Given the description of an element on the screen output the (x, y) to click on. 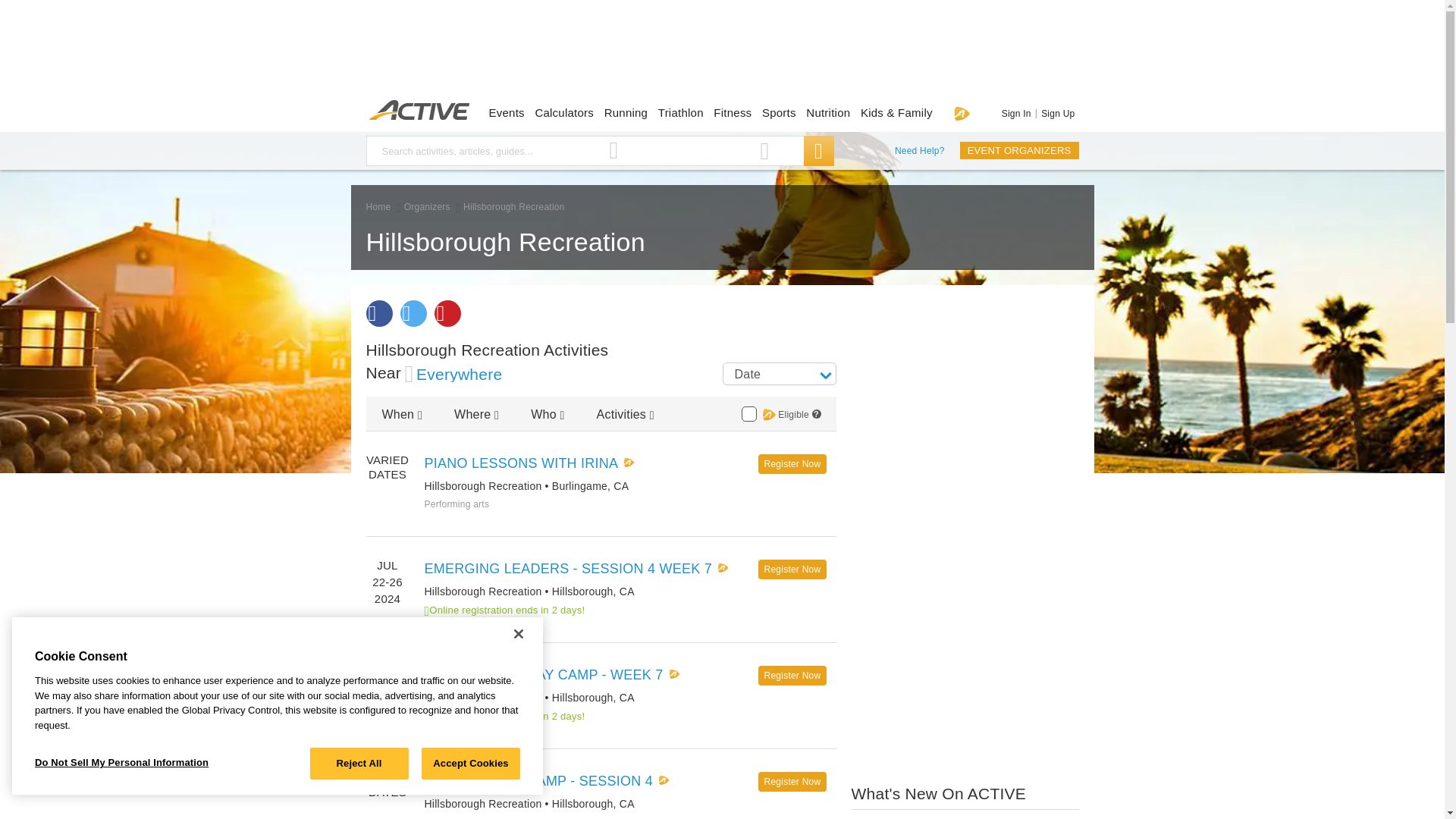
Share on Facebook (378, 313)
3rd party ad content (721, 53)
Share on Pinterest (446, 313)
Go Premium (961, 113)
Share on Twitter (413, 313)
